Given the description of an element on the screen output the (x, y) to click on. 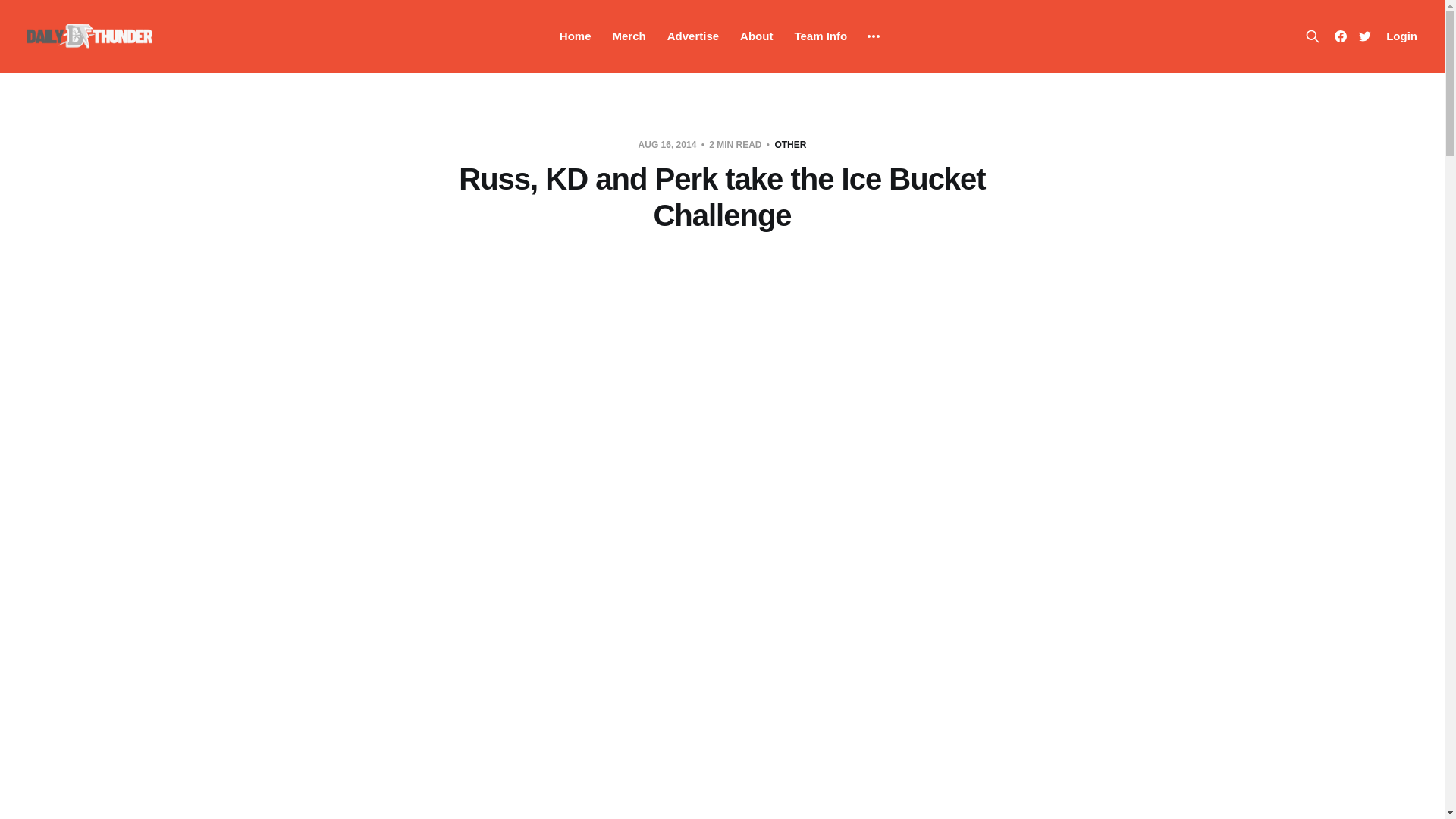
About (756, 35)
Team Info (820, 35)
Login (1401, 36)
Merch (629, 35)
Advertise (692, 35)
OTHER (790, 144)
Home (575, 35)
